Given the description of an element on the screen output the (x, y) to click on. 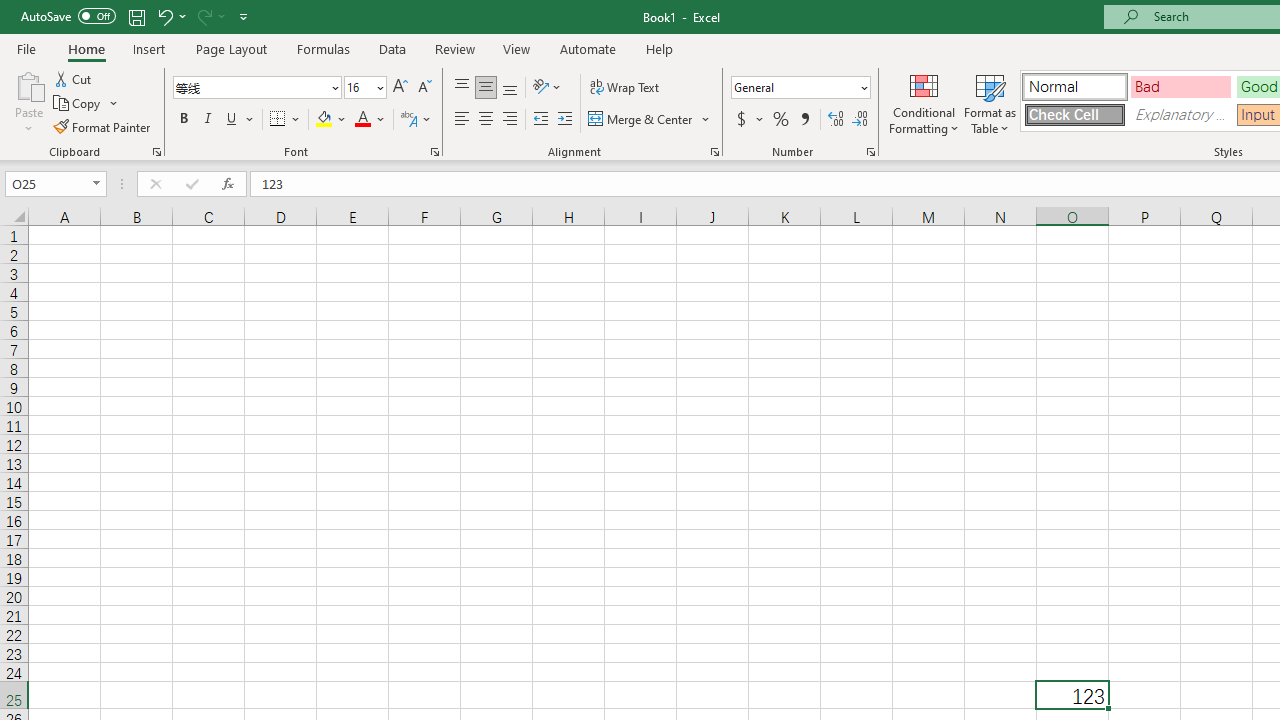
Paste (28, 102)
Explanatory Text (1180, 114)
Fill Color RGB(255, 255, 0) (324, 119)
Borders (285, 119)
Paste (28, 84)
Increase Indent (565, 119)
Bold (183, 119)
Comma Style (804, 119)
Font Size (358, 87)
Decrease Indent (540, 119)
Number Format (794, 87)
